Given the description of an element on the screen output the (x, y) to click on. 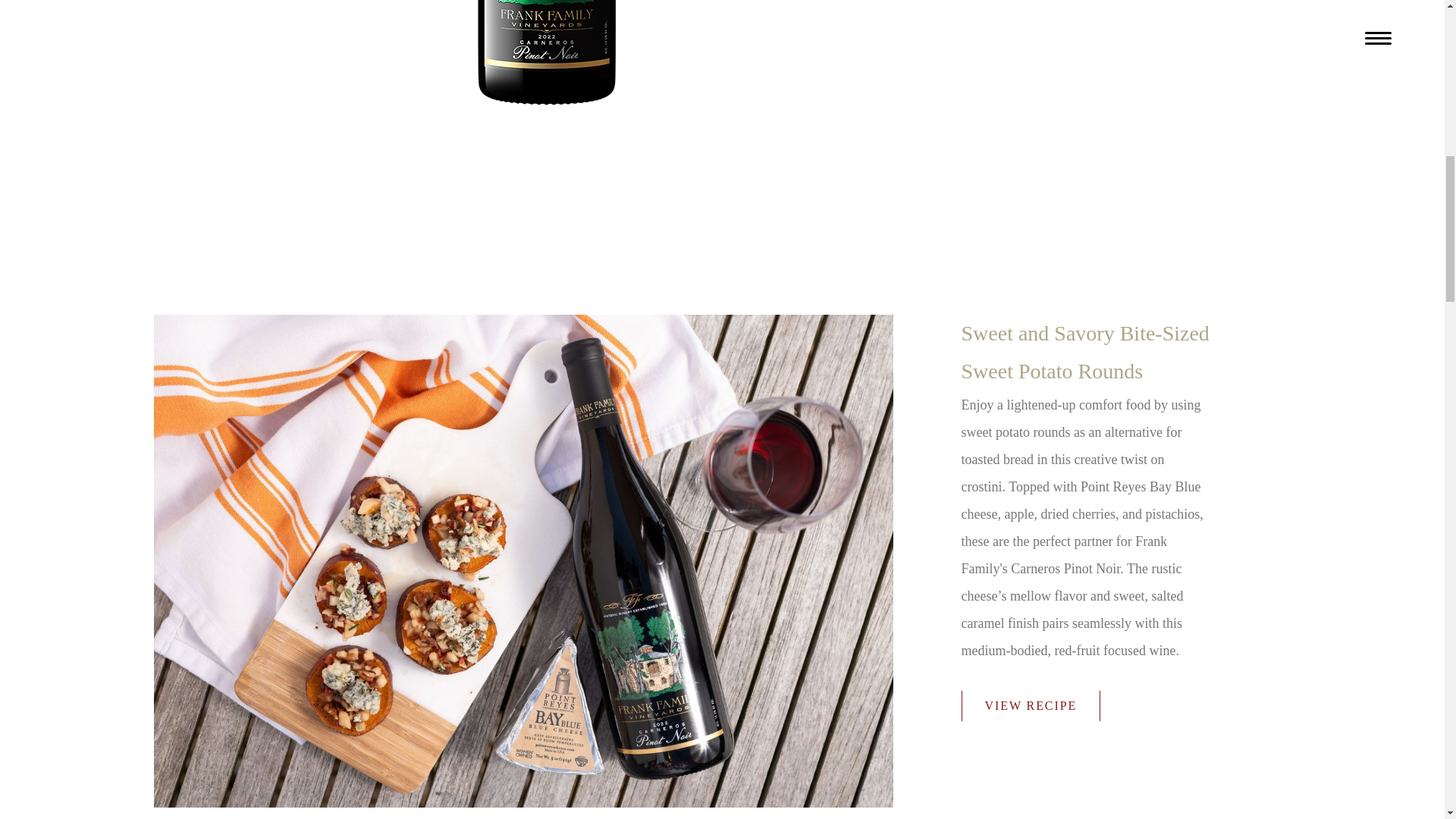
VIEW RECIPE (1030, 706)
